Given the description of an element on the screen output the (x, y) to click on. 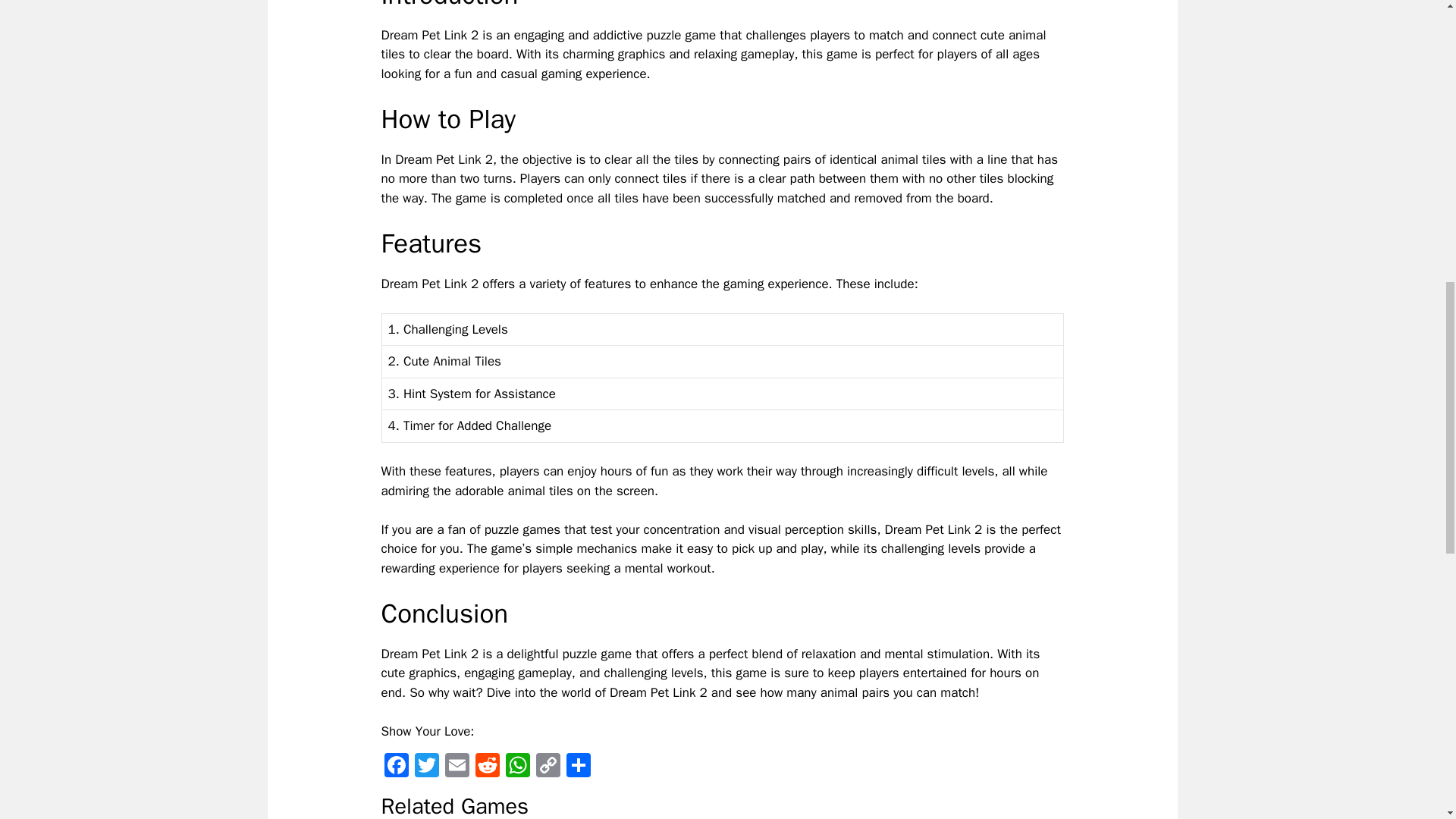
Twitter (425, 767)
Twitter (425, 767)
Reddit (486, 767)
Copy Link (547, 767)
Email (456, 767)
Email (456, 767)
Facebook (395, 767)
Facebook (395, 767)
Reddit (486, 767)
Copy Link (547, 767)
WhatsApp (517, 767)
WhatsApp (517, 767)
